Given the description of an element on the screen output the (x, y) to click on. 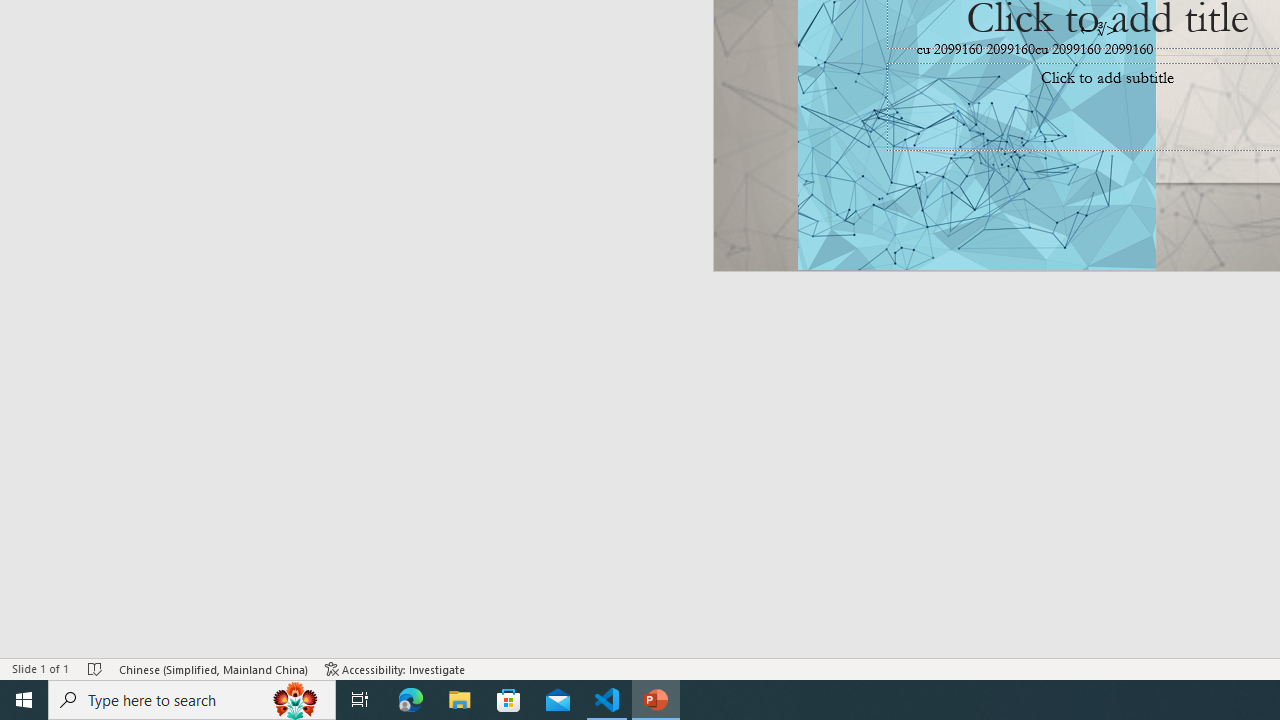
Manage (135, 532)
Debug Console (Ctrl+Shift+Y) (854, 218)
remote (122, 628)
Outline Section (331, 362)
Accounts - Sign in requested (135, 493)
Terminal (Ctrl+`) (1021, 218)
Ports - 26 forwarded ports (1165, 218)
